Given the description of an element on the screen output the (x, y) to click on. 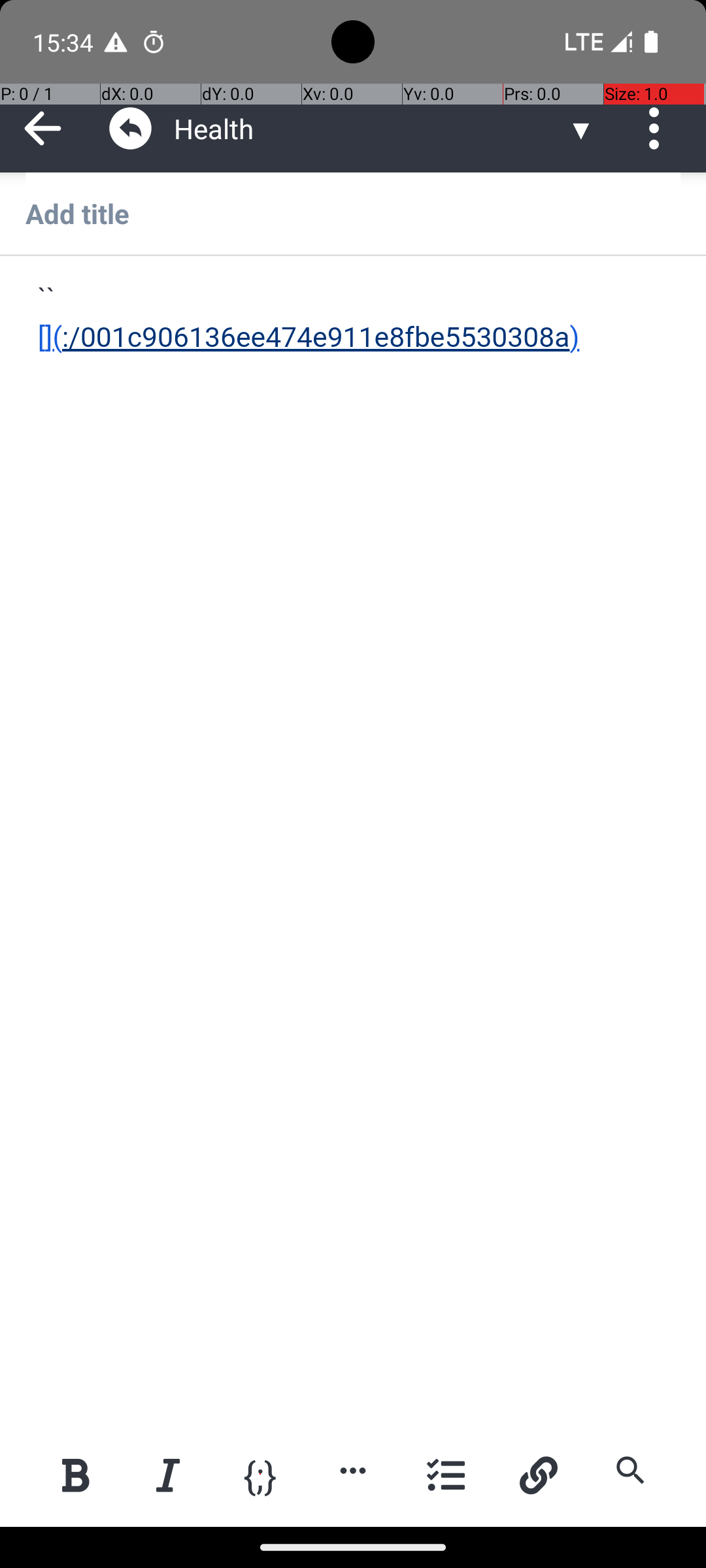
Add title Element type: android.widget.EditText (352, 213)
 Element type: android.widget.TextView (130, 127)

[](:/001c906136ee474e911e8fbe5530308a) Element type: android.widget.EditText (354, 318)
